Given the description of an element on the screen output the (x, y) to click on. 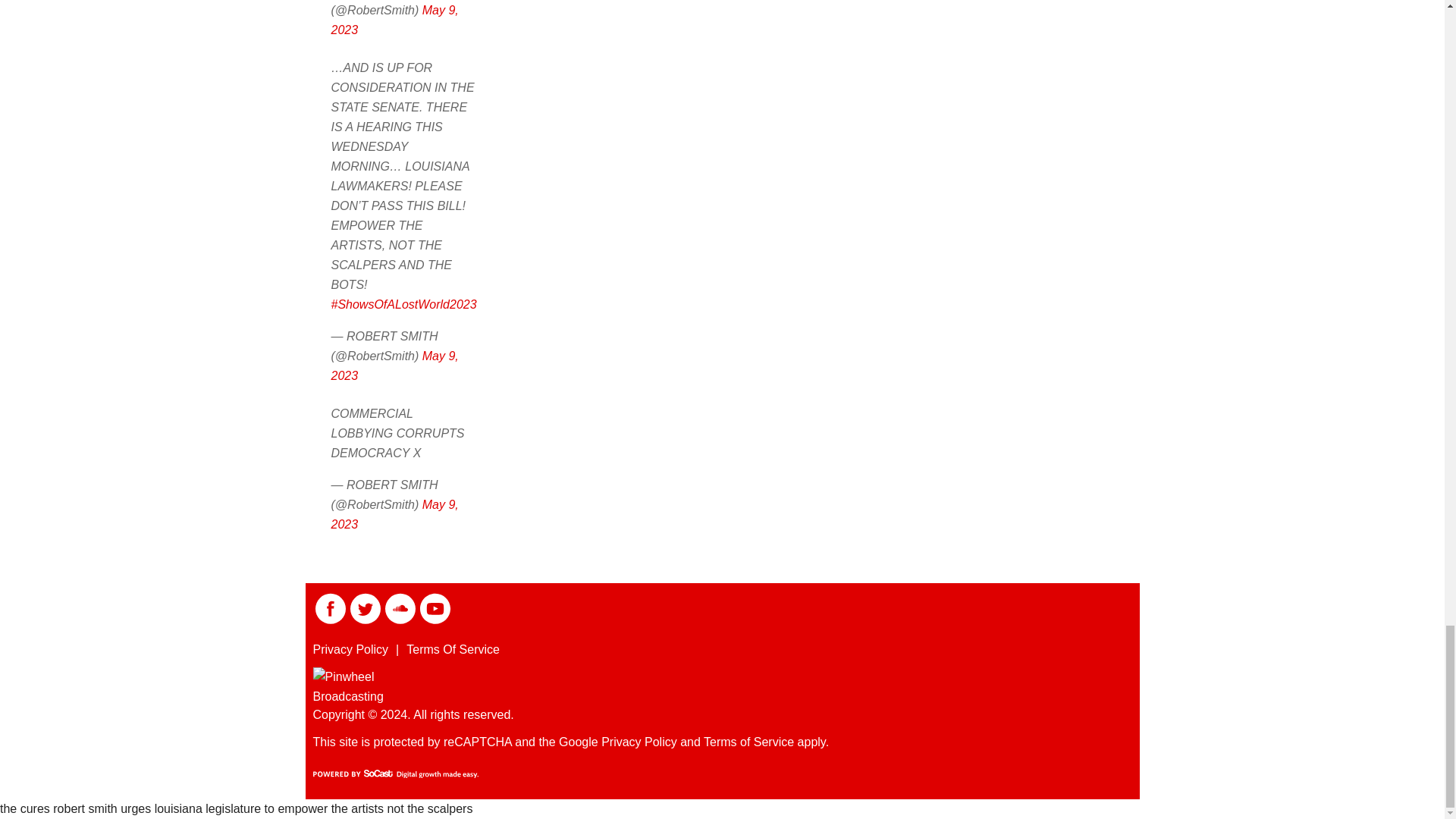
Powered By SoCast (395, 773)
May 9, 2023 (394, 20)
